Given the description of an element on the screen output the (x, y) to click on. 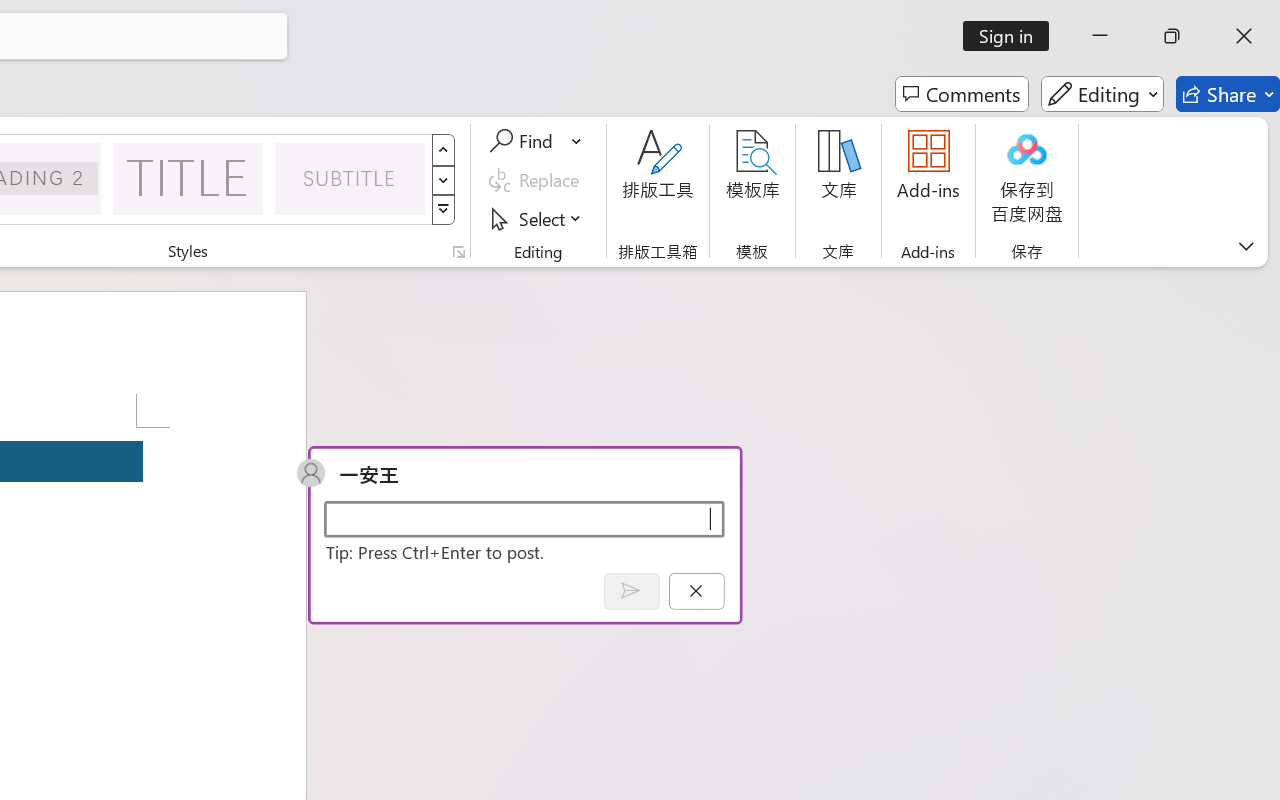
Cancel (696, 590)
Subtitle (349, 178)
Sign in (1012, 35)
